Given the description of an element on the screen output the (x, y) to click on. 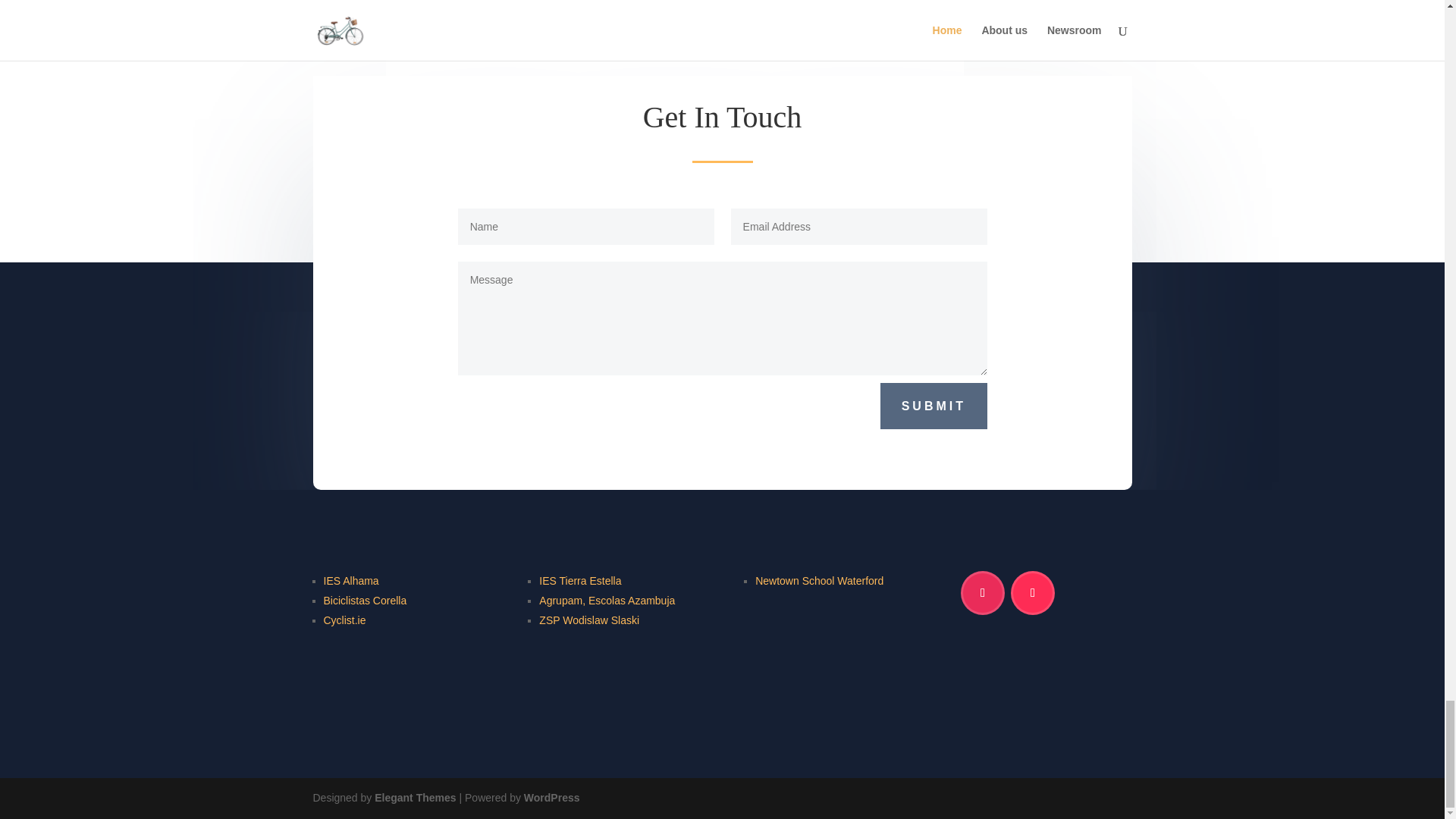
Newtown School Waterford (819, 581)
SUBMIT (933, 406)
Cyclist.ie (344, 621)
ZSP Wodislaw Slaski (588, 621)
Follow on Instagram (982, 593)
IES Tierra Estella (579, 581)
Biciclistas Corella (364, 601)
WordPress (551, 797)
IES Alhama (350, 581)
Agrupam, Escolas Azambuja (606, 601)
Elegant Themes (414, 797)
